Given the description of an element on the screen output the (x, y) to click on. 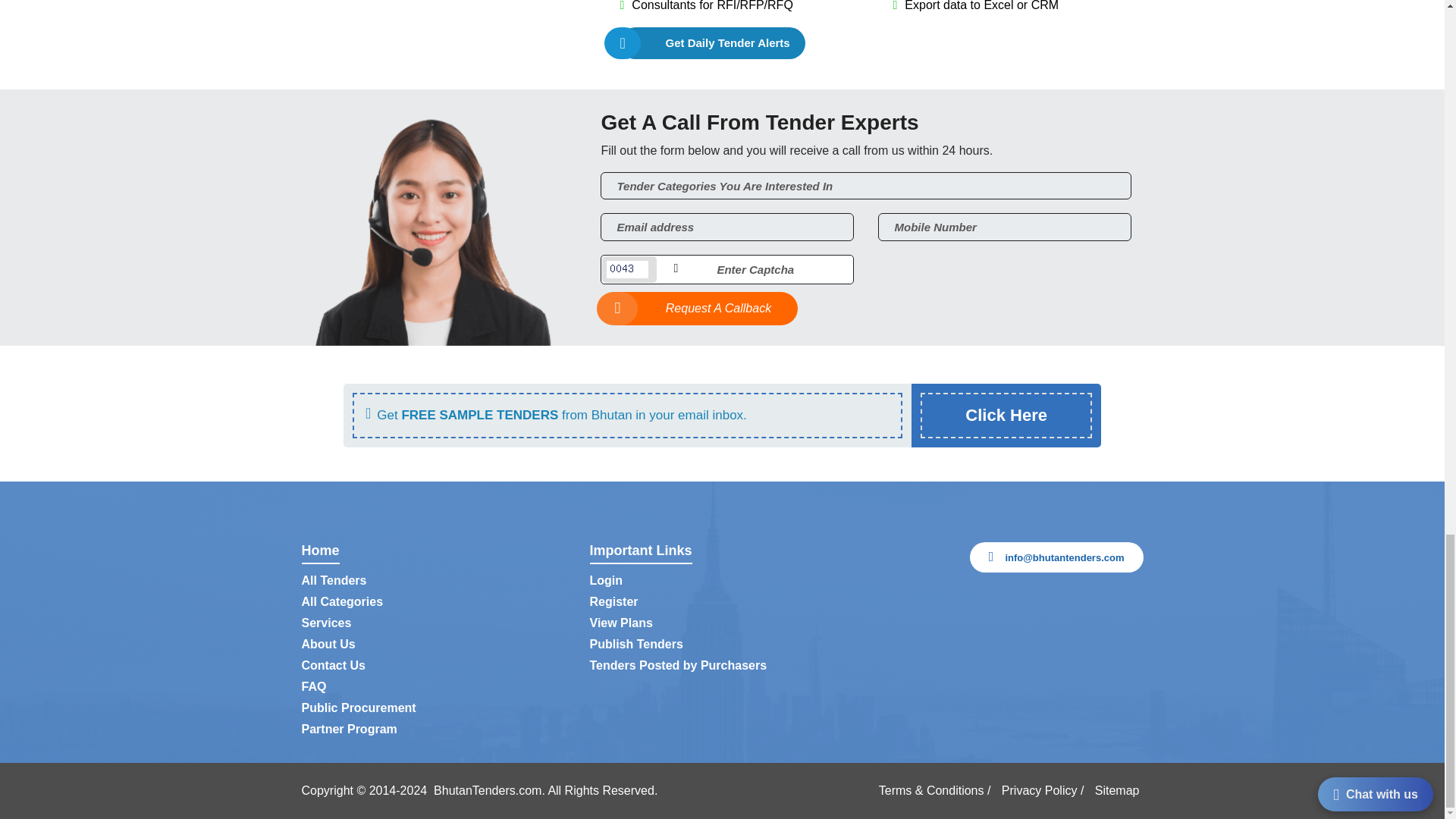
Request A Callback (698, 308)
Services (326, 622)
Get Daily Tender Alerts (712, 42)
All Tenders (333, 580)
All Categories (342, 601)
Click Here (1006, 415)
